Given the description of an element on the screen output the (x, y) to click on. 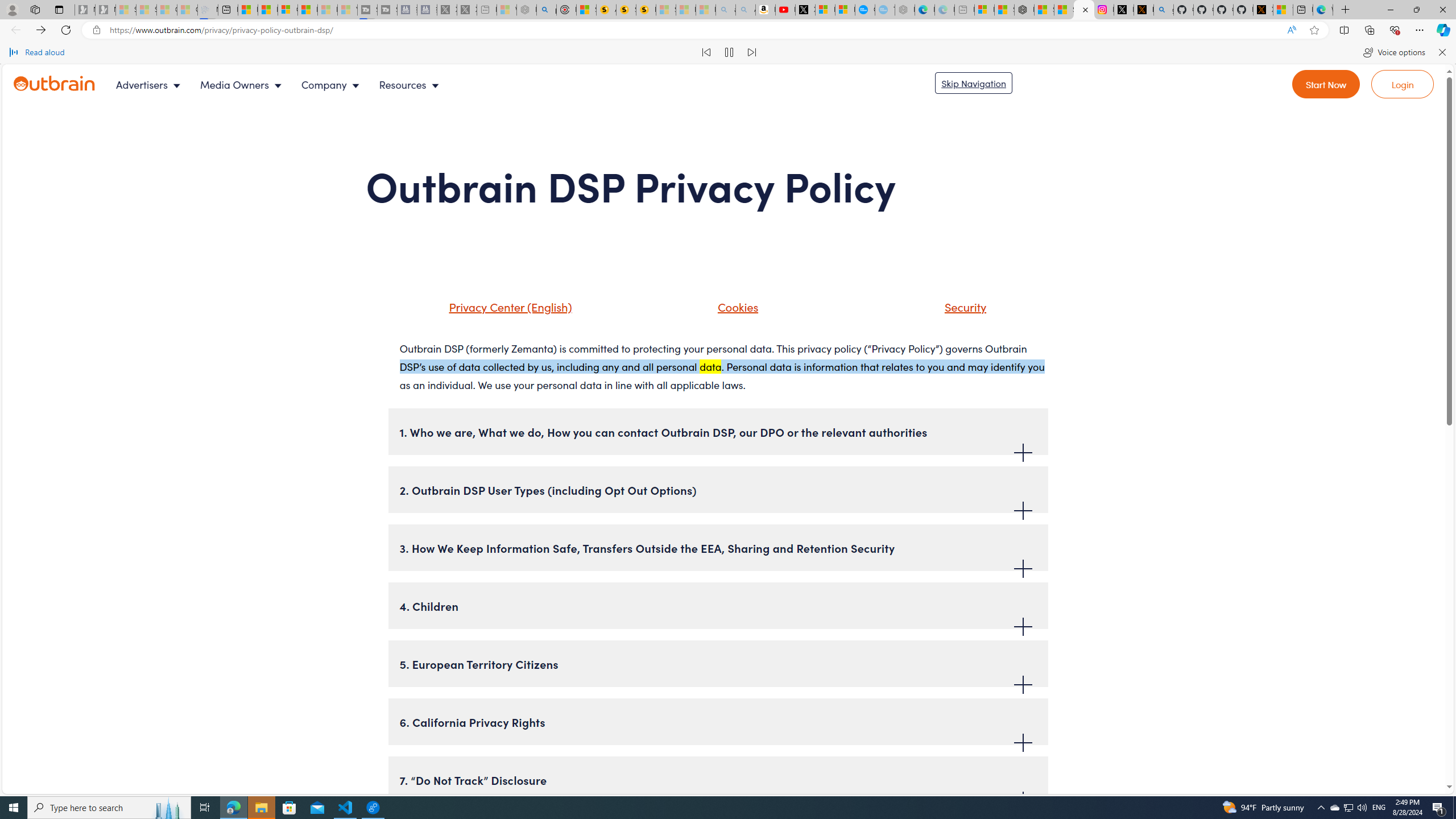
Go to Register (1325, 83)
The most popular Google 'how to' searches - Sleeping (884, 9)
Michelle Starr, Senior Journalist at ScienceAlert (646, 9)
Overview (287, 9)
